Given the description of an element on the screen output the (x, y) to click on. 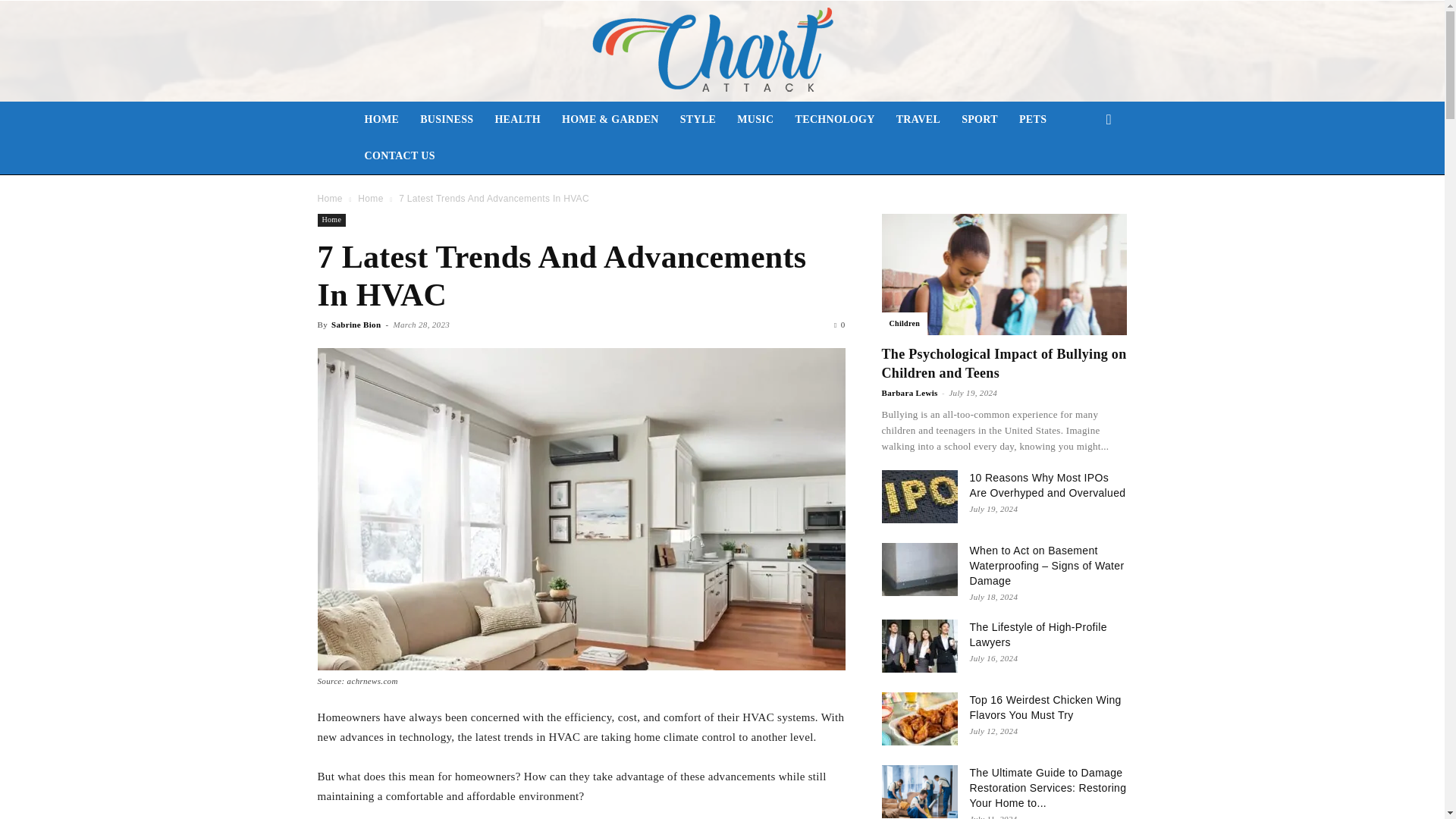
BUSINESS (446, 119)
SPORT (979, 119)
MUSIC (755, 119)
HOME (381, 119)
View all posts in Home (370, 198)
Home (331, 219)
STYLE (697, 119)
Search (1085, 180)
TRAVEL (917, 119)
0 (839, 324)
Home (329, 198)
HEALTH (517, 119)
Sabrine Bion (355, 324)
Home (370, 198)
